Given the description of an element on the screen output the (x, y) to click on. 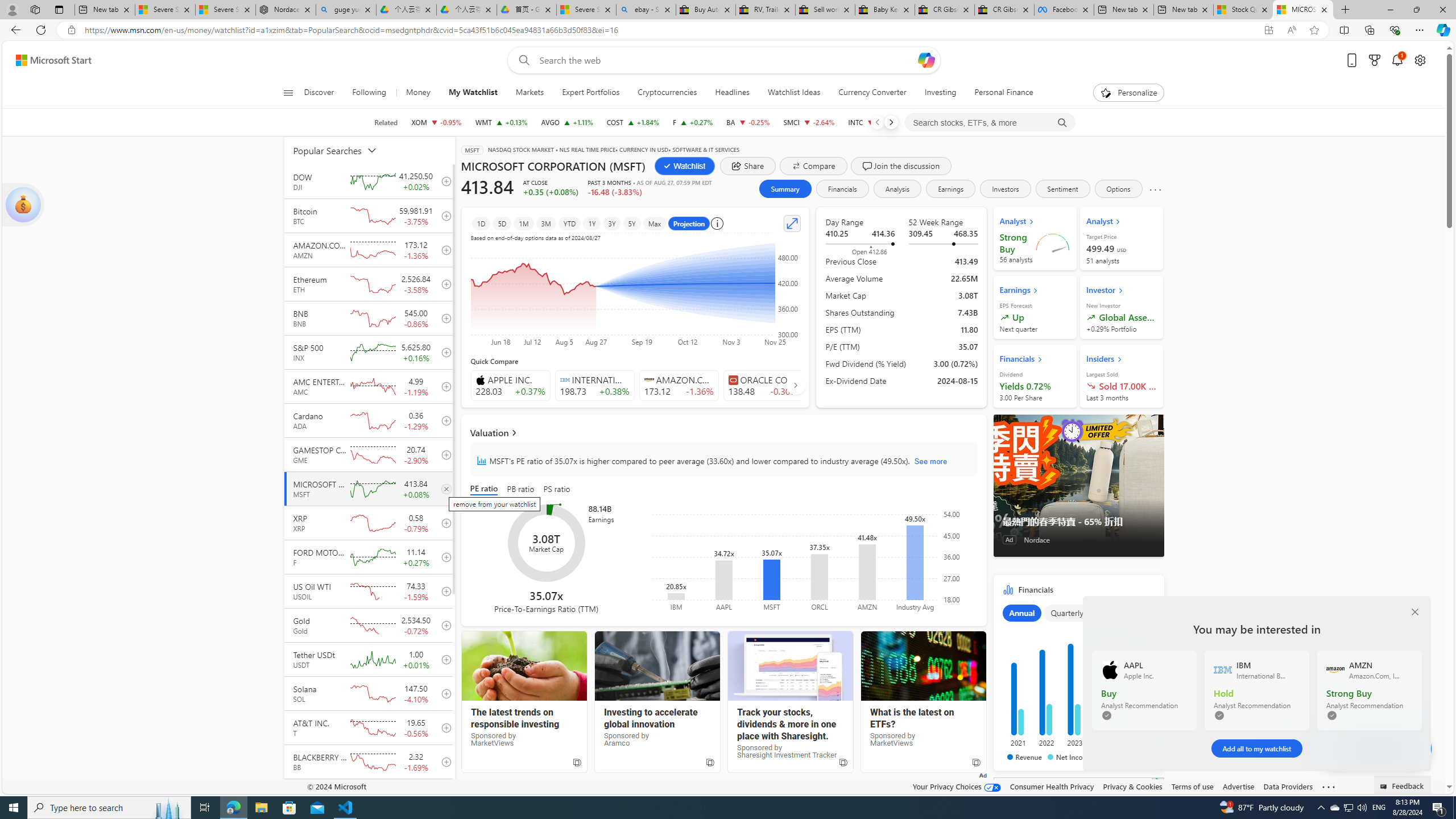
Privacy & Cookies (1131, 785)
Earnings (950, 188)
Currency Converter (872, 92)
3Y (611, 223)
Your Privacy Choices (956, 785)
INTC INTEL CORPORATION decrease 20.07 -0.06 -0.30% (872, 122)
Sentiment (1062, 188)
See comments 317 (1372, 748)
